Given the description of an element on the screen output the (x, y) to click on. 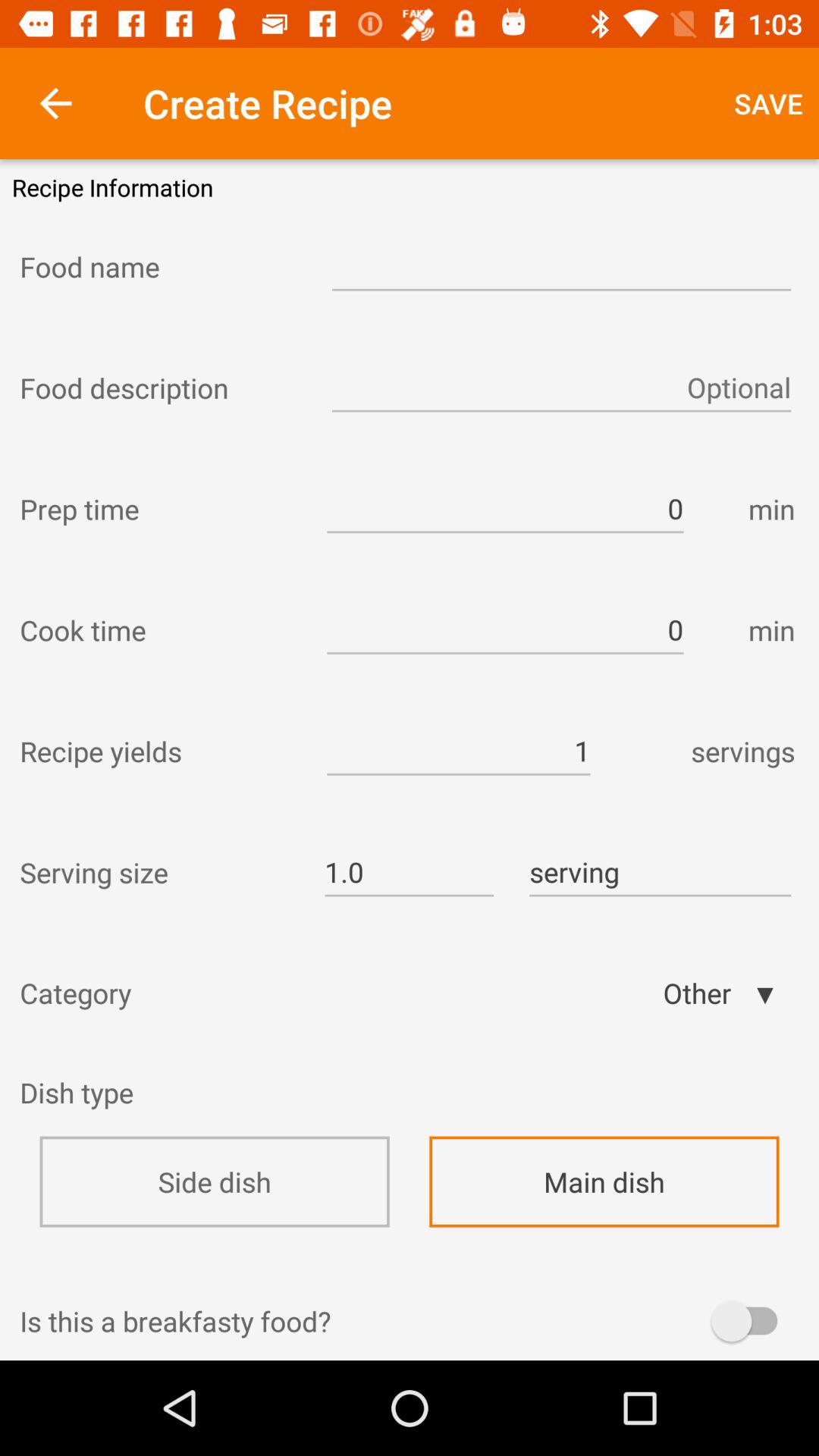
open icon to the right of serving size item (408, 872)
